Given the description of an element on the screen output the (x, y) to click on. 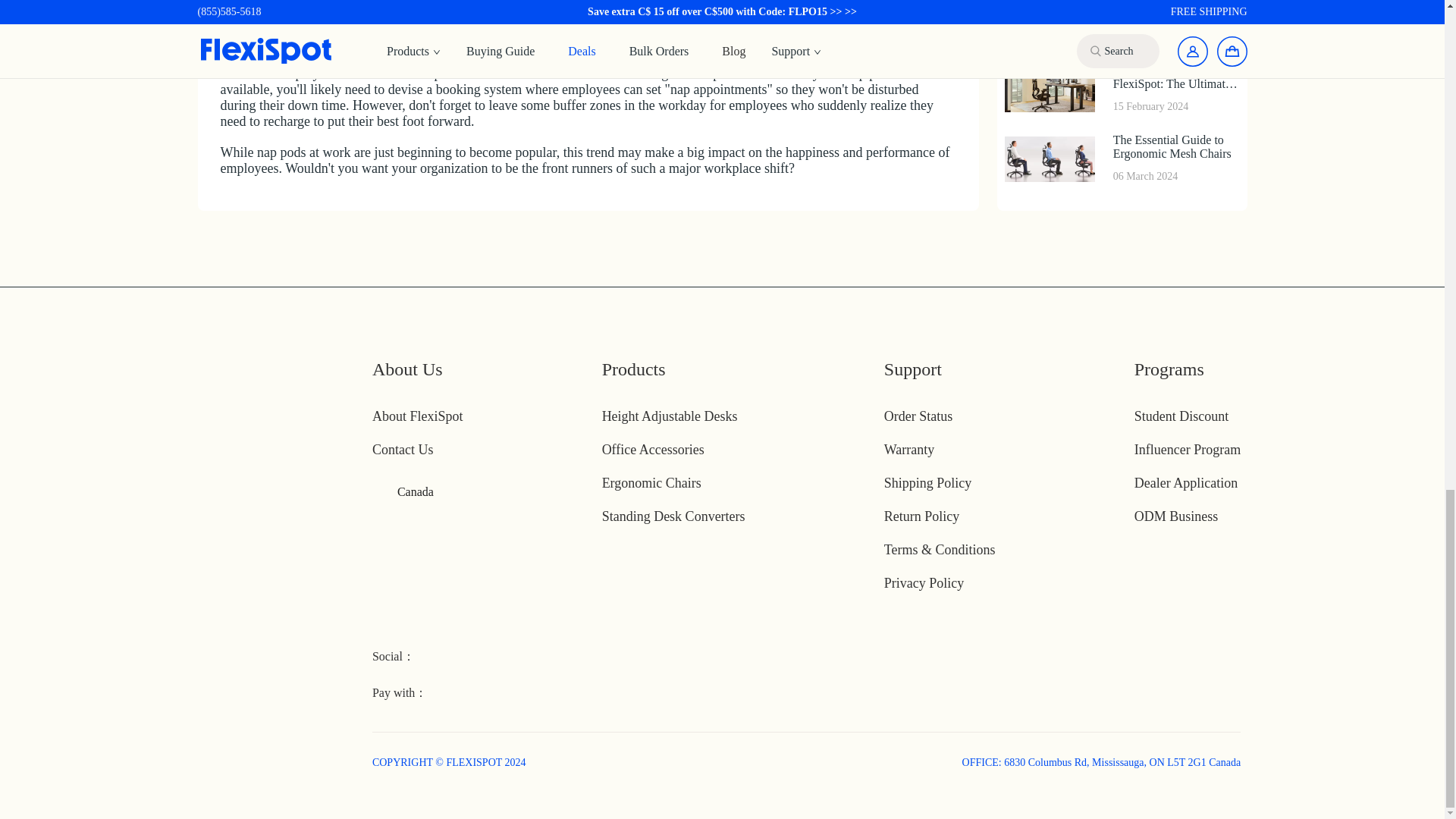
About FlexiSpot (417, 416)
Warranty (908, 449)
Contact Us (402, 449)
Shipping Policy (927, 482)
Height Adjustable Desks (670, 416)
Order Status (917, 416)
Office Accessories (653, 449)
Ergonomic Chairs (651, 482)
Standing Desk Converters (673, 516)
